Given the description of an element on the screen output the (x, y) to click on. 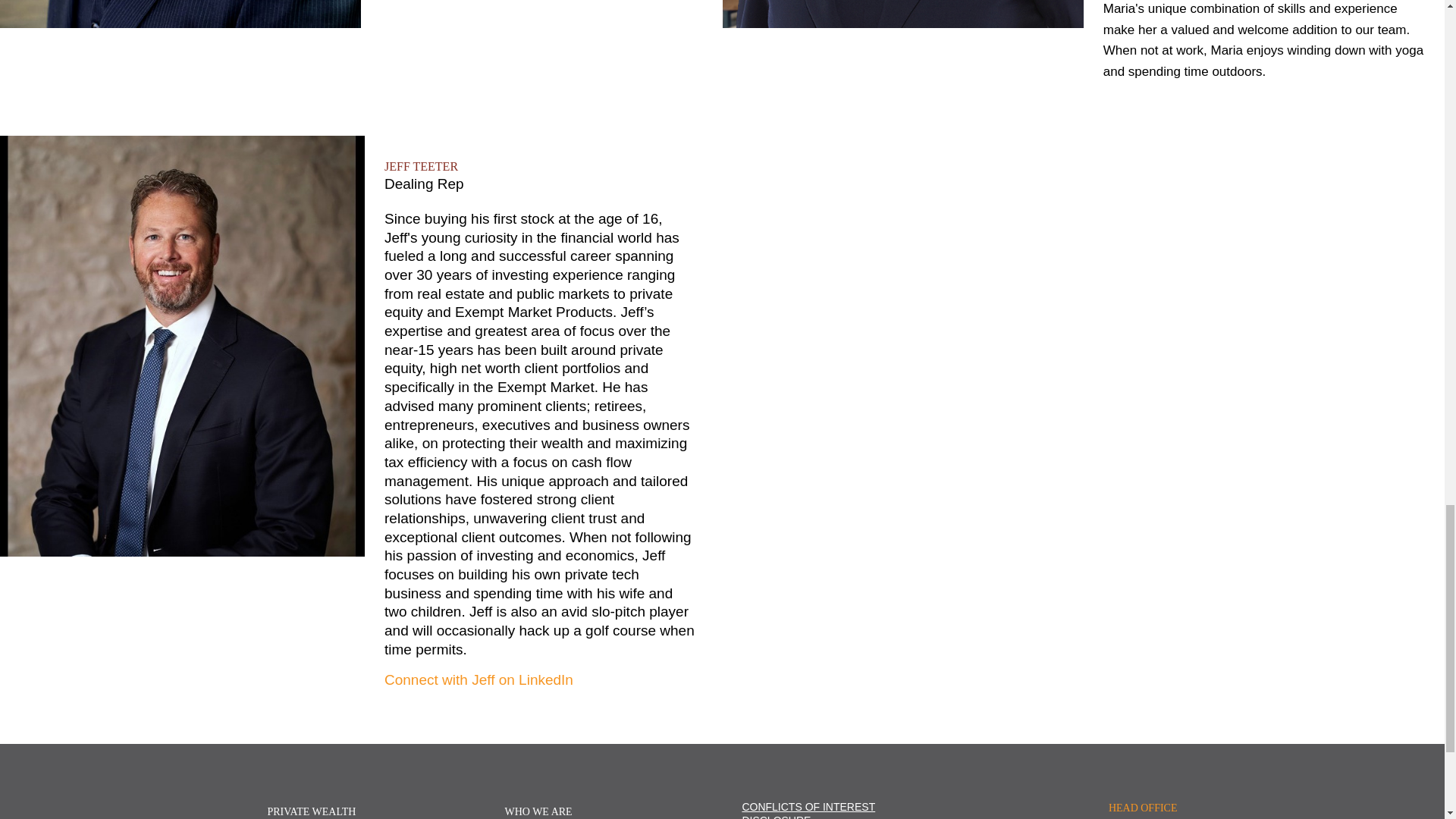
PRIVATE WEALTH (310, 811)
dave-gamble-headshot-v2-600x692 (180, 13)
WHO WE ARE (537, 811)
CONFLICTS OF INTEREST DISCLOSURE (808, 809)
Connect with Jeff on LinkedIn (478, 679)
